Given the description of an element on the screen output the (x, y) to click on. 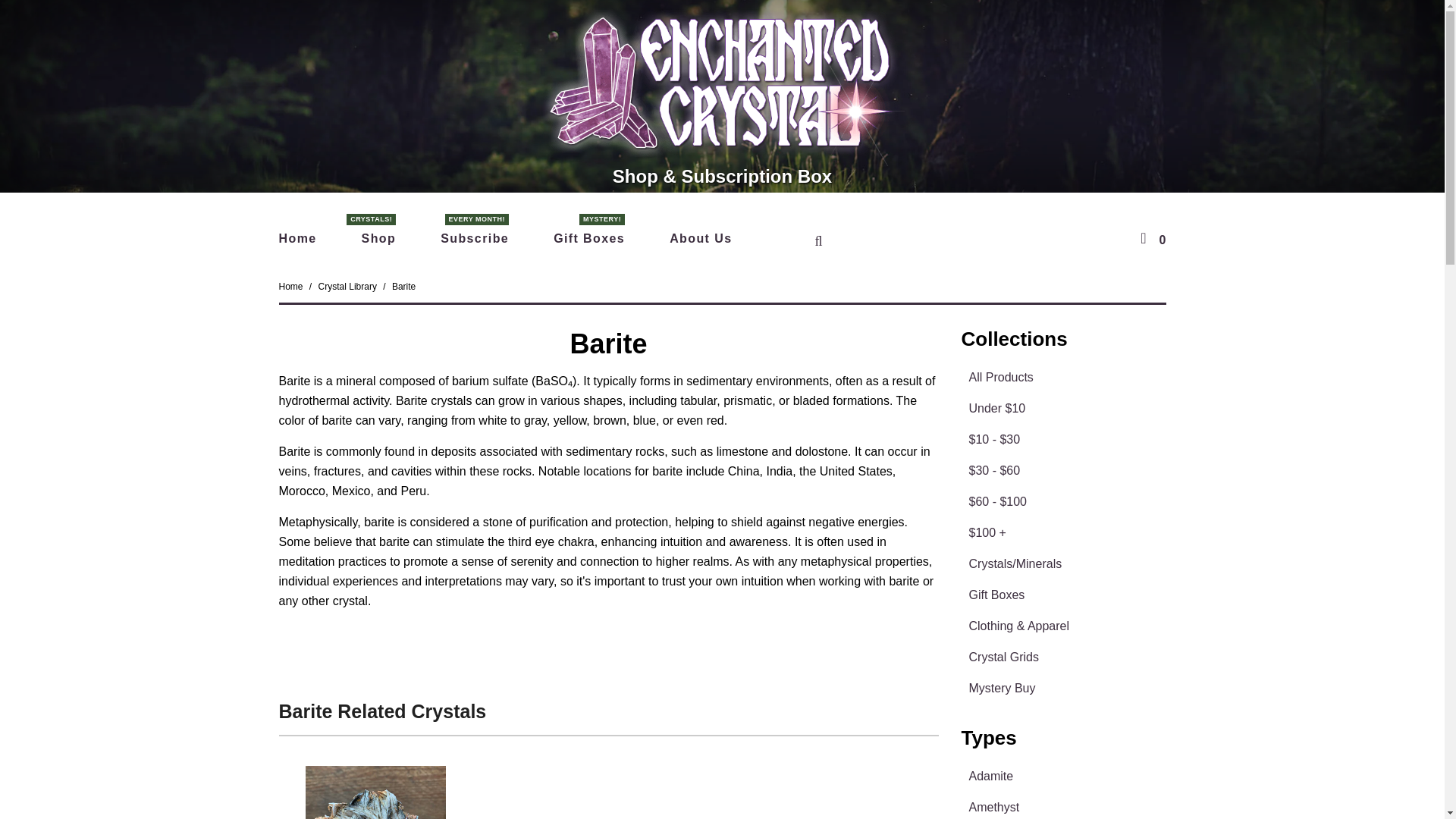
Home (298, 241)
All Products (1063, 377)
Back to the frontpage (588, 241)
Adamite (474, 241)
Crystal Library (290, 286)
Gift Boxes (1063, 776)
Mystery Buy (347, 286)
Mystery Buy (1063, 594)
Home (1063, 688)
All Products (1063, 688)
Amethyst (290, 286)
About Us (1063, 377)
